Given the description of an element on the screen output the (x, y) to click on. 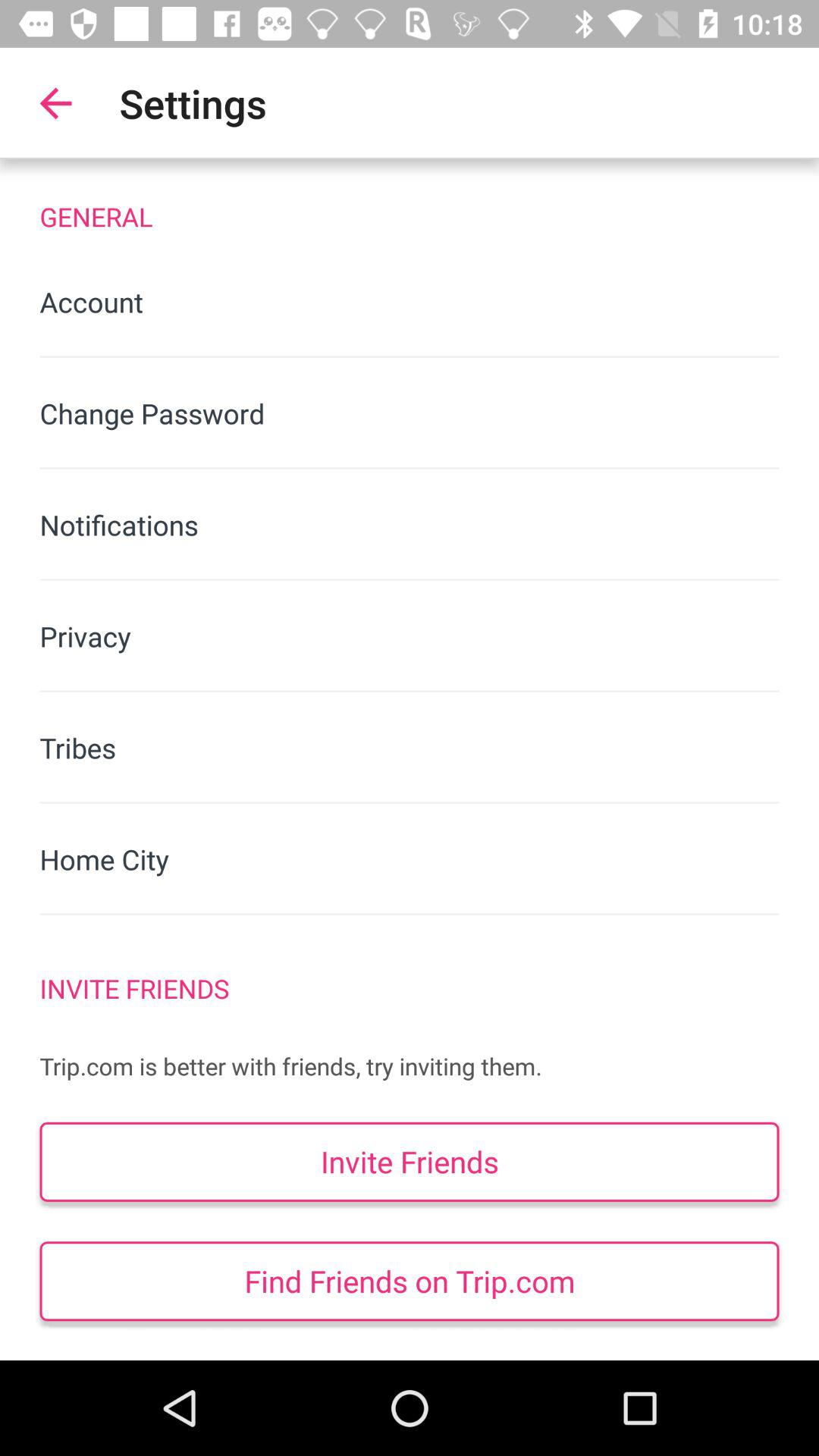
select the notifications (409, 524)
